Given the description of an element on the screen output the (x, y) to click on. 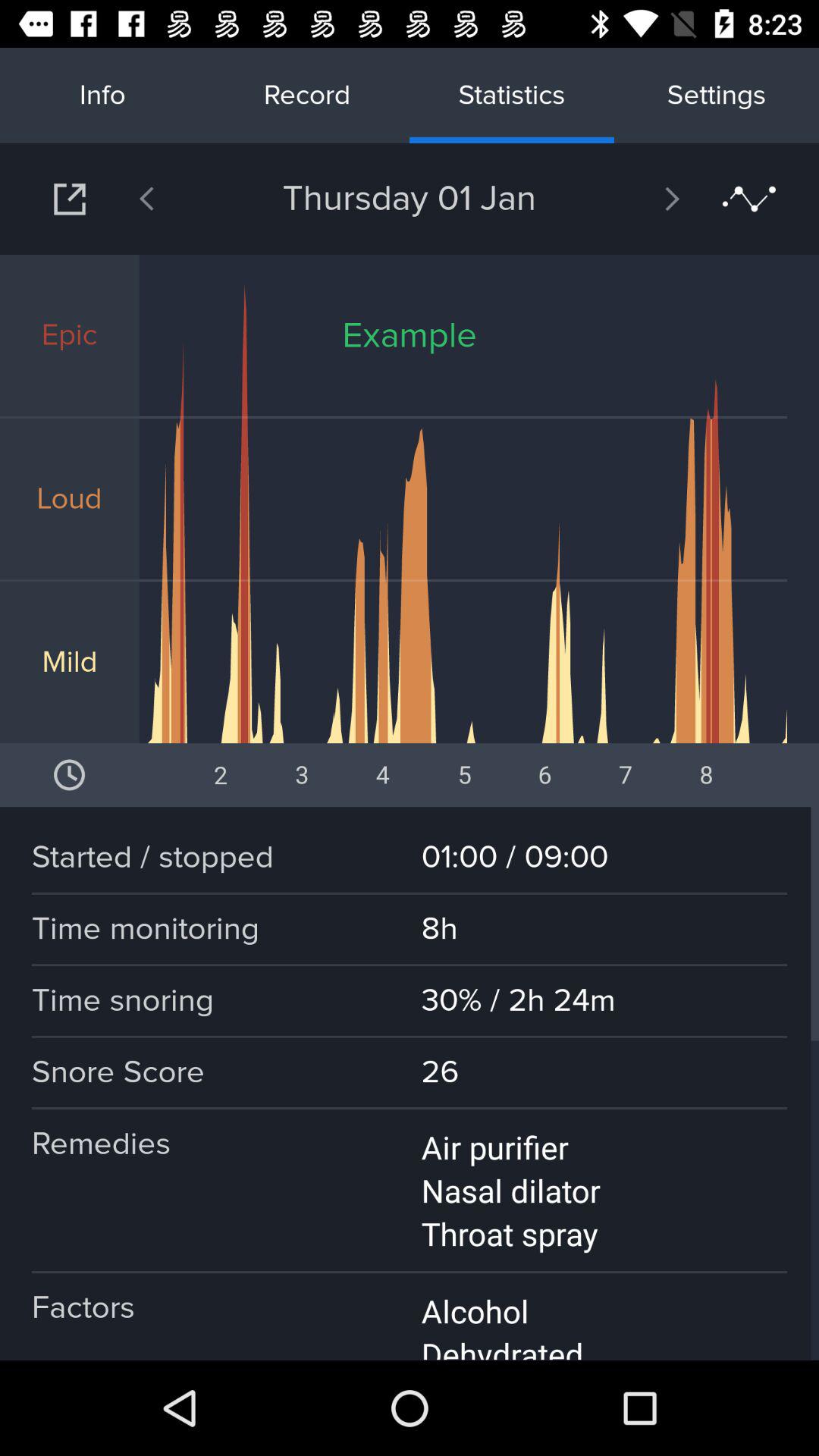
go to next (69, 198)
